Given the description of an element on the screen output the (x, y) to click on. 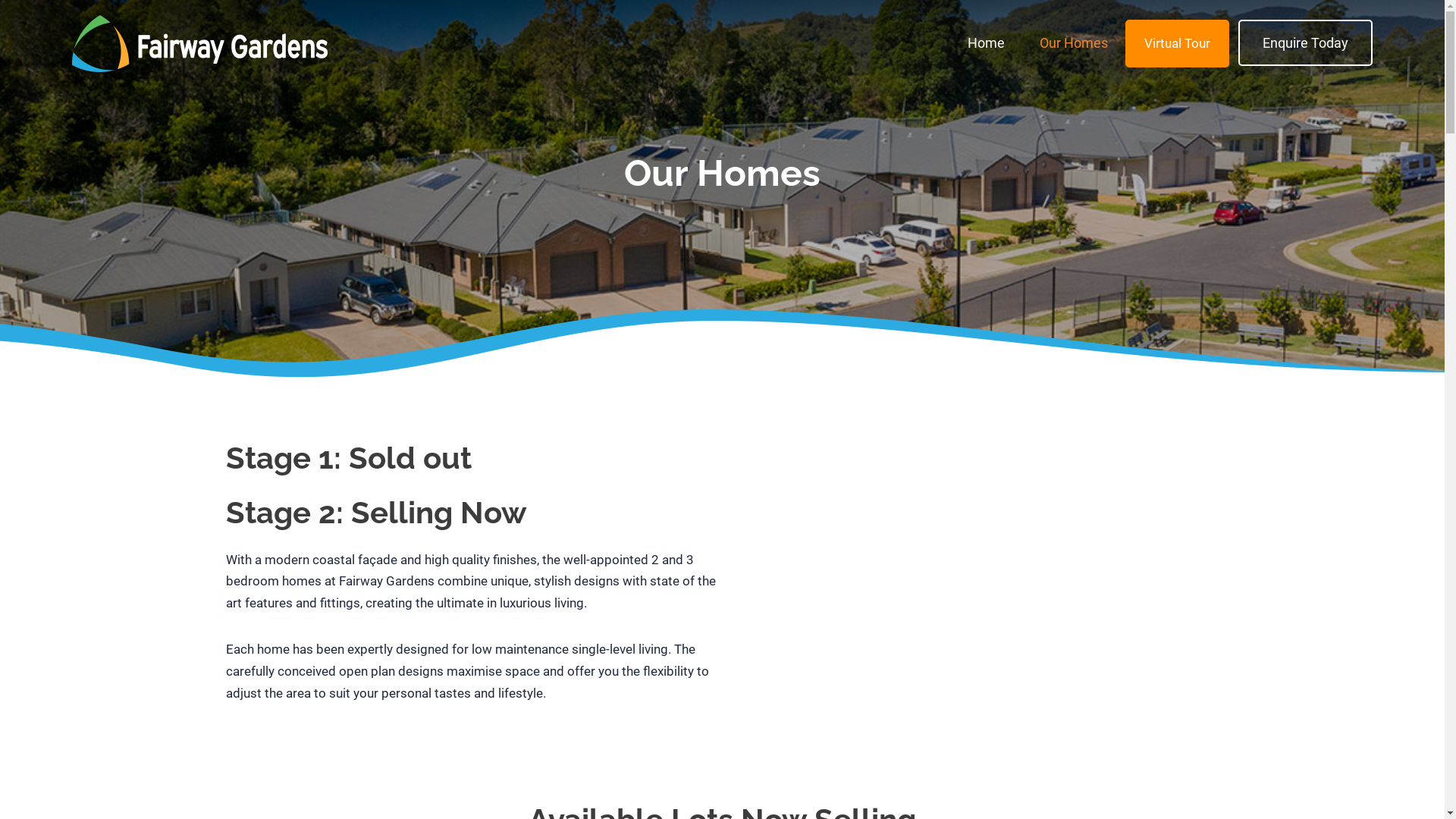
Enquire Today Element type: text (1305, 42)
Virtual Tour Element type: text (1177, 43)
Home Element type: text (986, 42)
Fairway Gardens Element type: hover (199, 43)
Our Homes Element type: text (1073, 42)
